Given the description of an element on the screen output the (x, y) to click on. 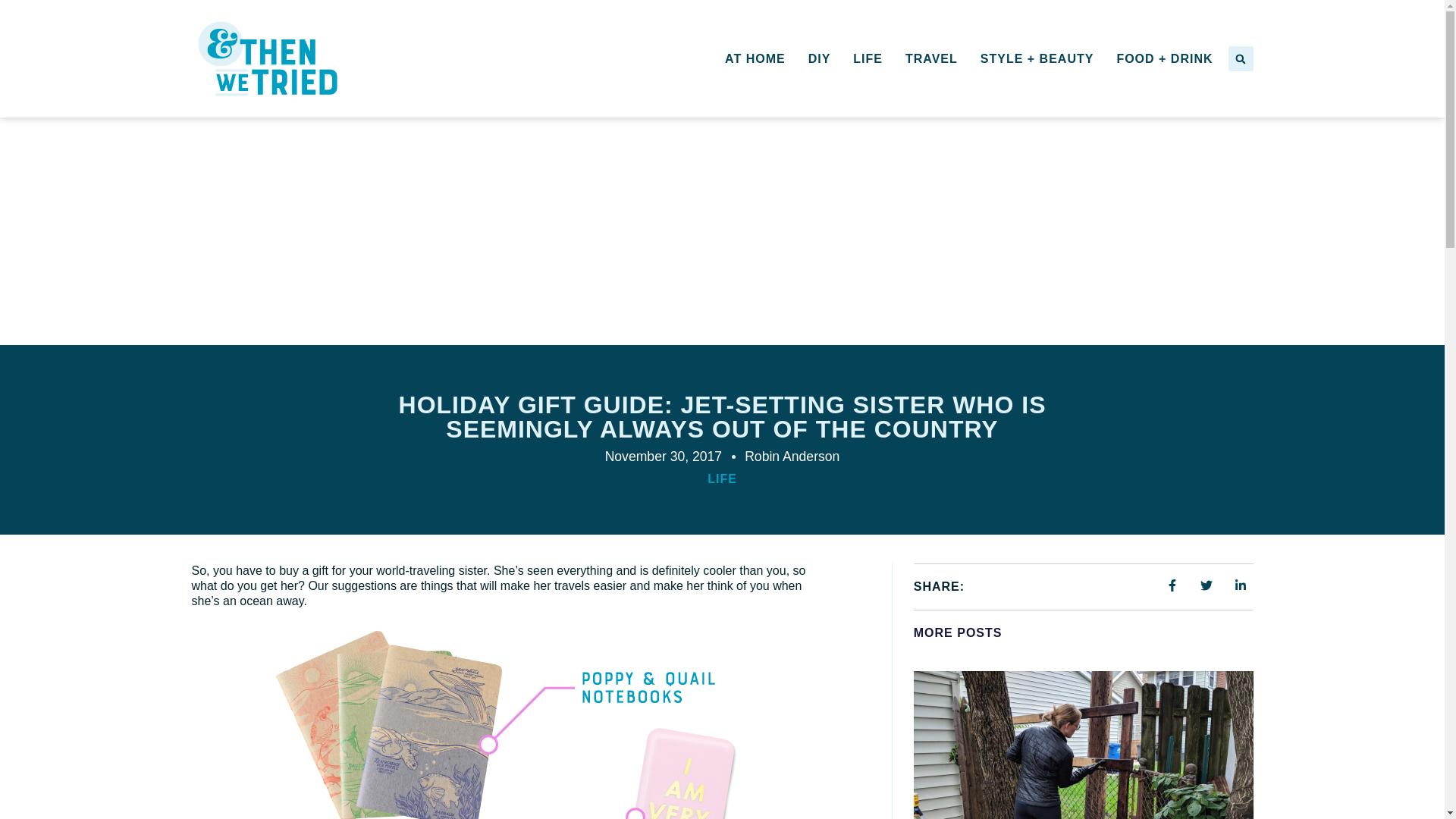
TRAVEL (931, 58)
LIFE (721, 478)
Robin Anderson (792, 456)
November 30, 2017 (663, 456)
DIY (819, 58)
AT HOME (755, 58)
LIFE (867, 58)
